Given the description of an element on the screen output the (x, y) to click on. 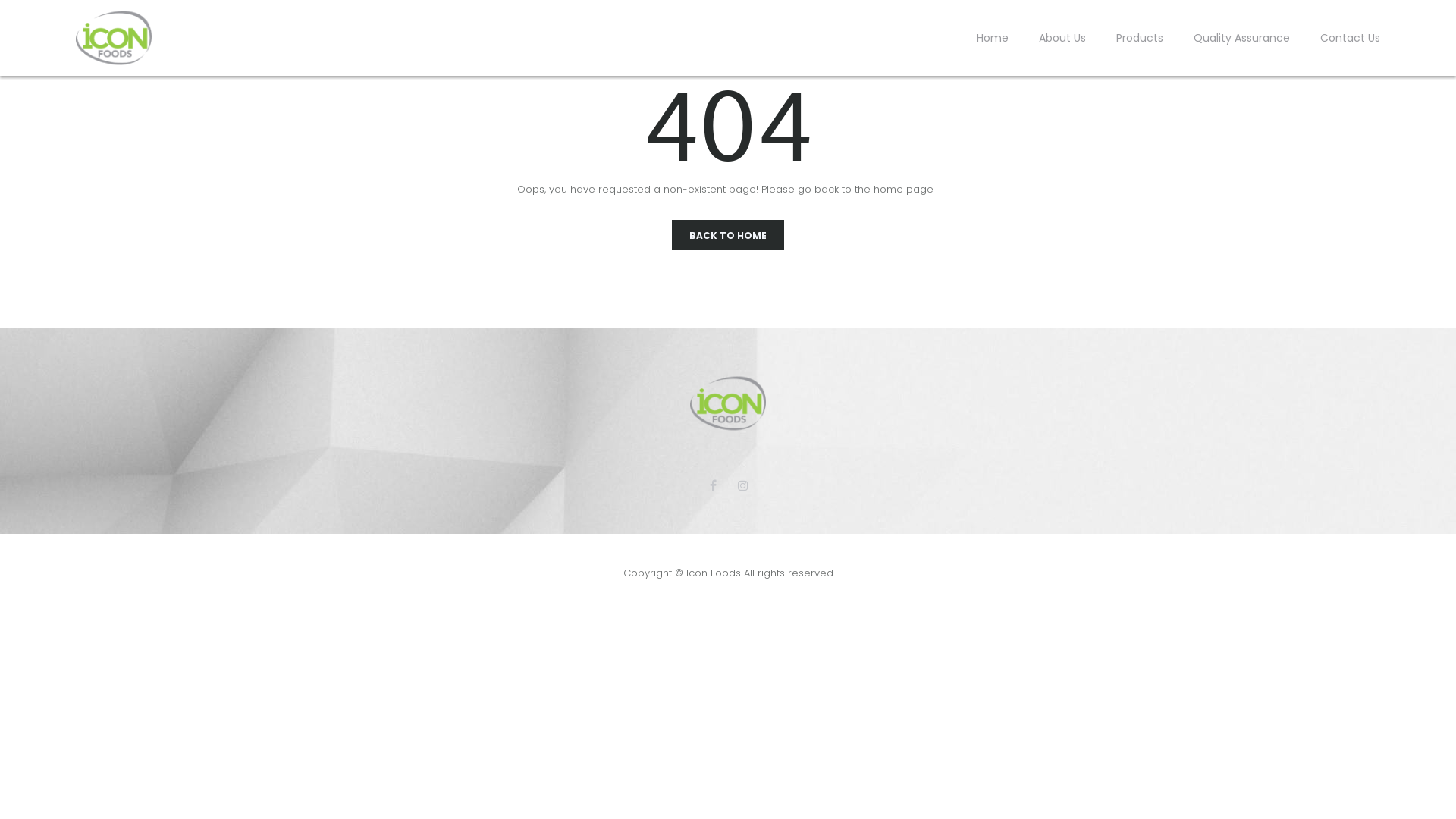
Home Element type: text (992, 37)
Contact Us Element type: text (1350, 37)
BACK TO HOME Element type: text (727, 234)
Products Element type: text (1139, 37)
About Us Element type: text (1061, 37)
Quality Assurance Element type: text (1241, 37)
